Given the description of an element on the screen output the (x, y) to click on. 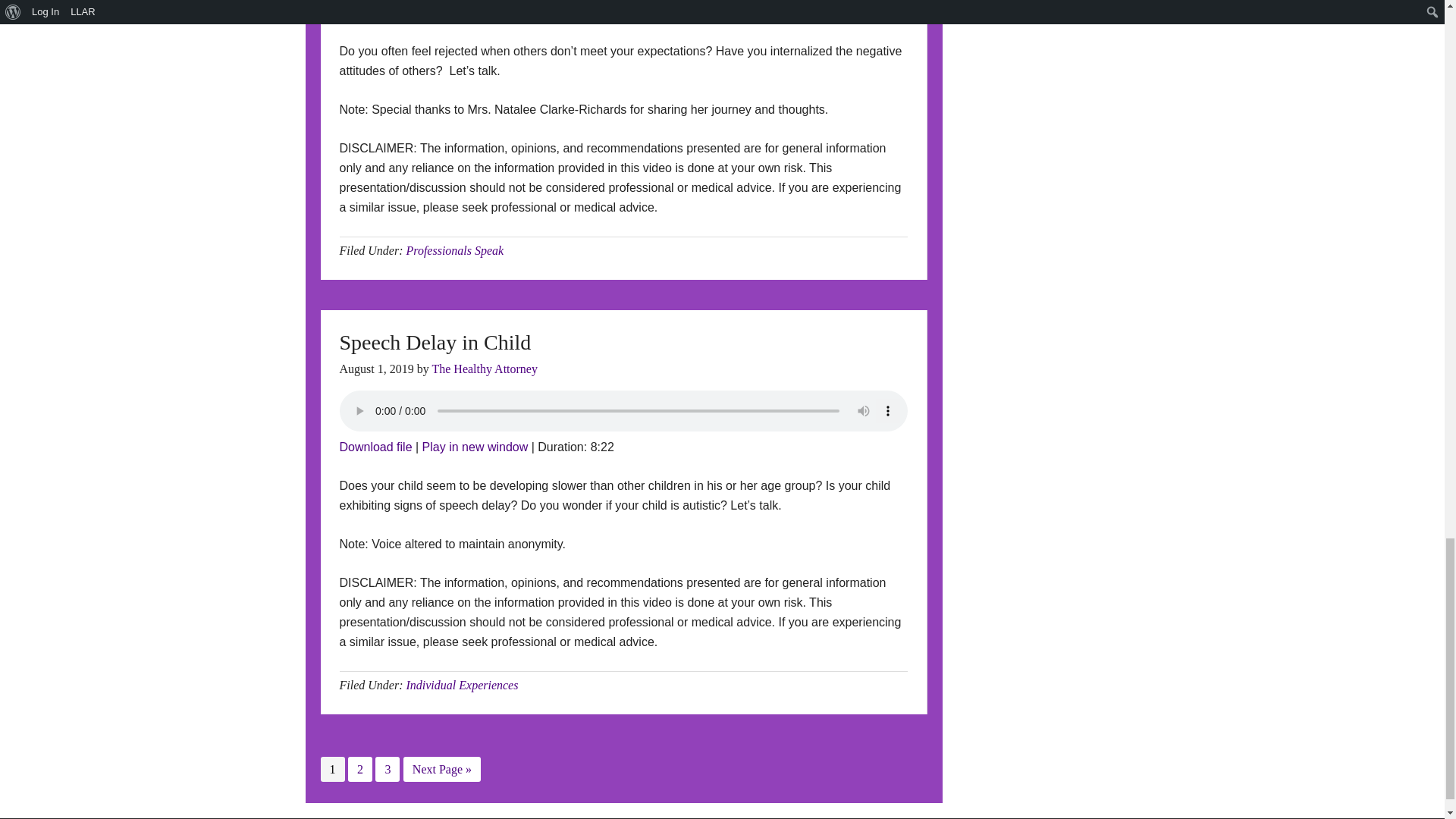
Idolizing Others  (375, 11)
Idolizing Others  (475, 11)
Speech Delay in Child  (475, 446)
Speech Delay in Child  (375, 446)
